Given the description of an element on the screen output the (x, y) to click on. 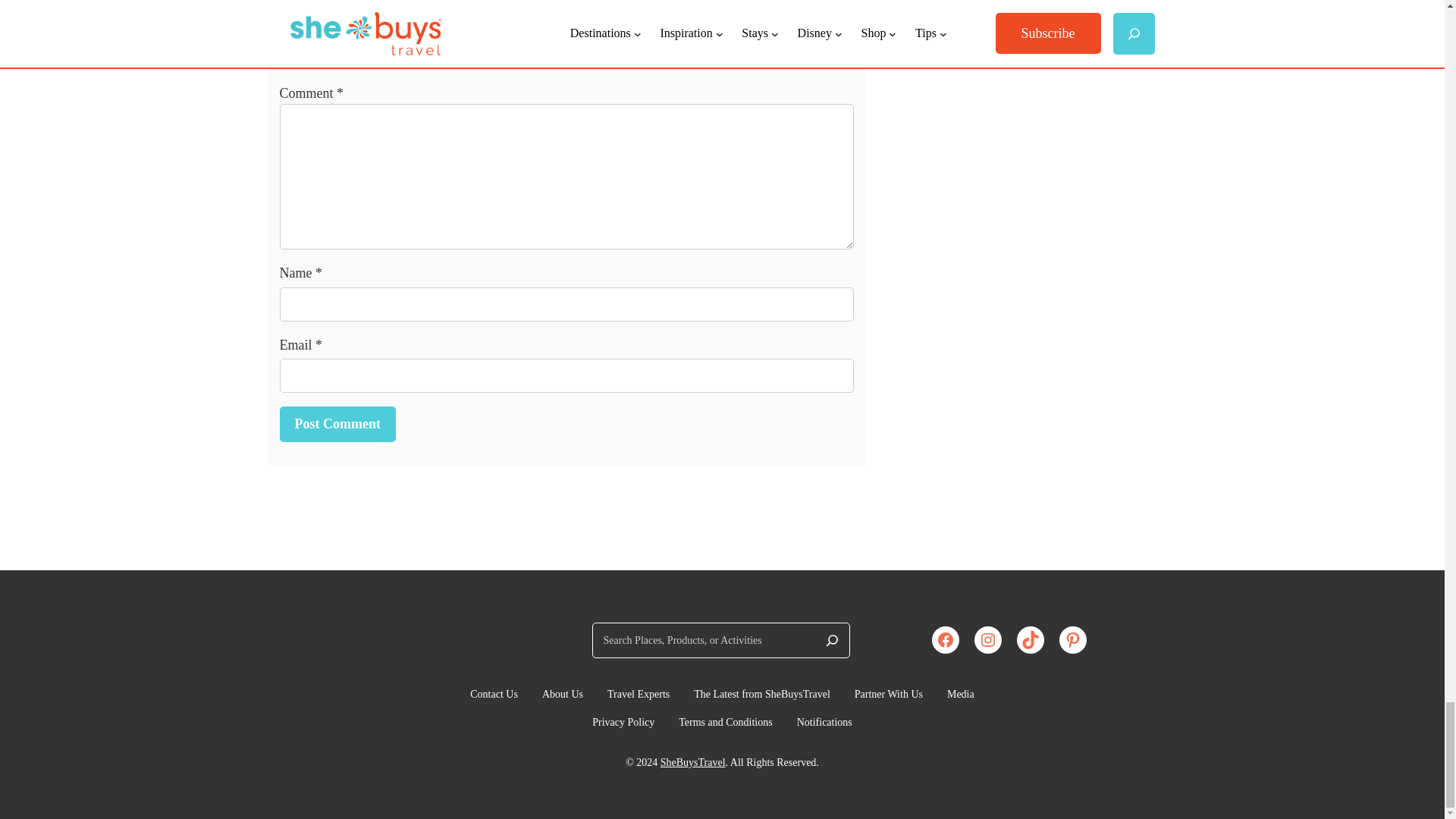
Post Comment (336, 424)
